Given the description of an element on the screen output the (x, y) to click on. 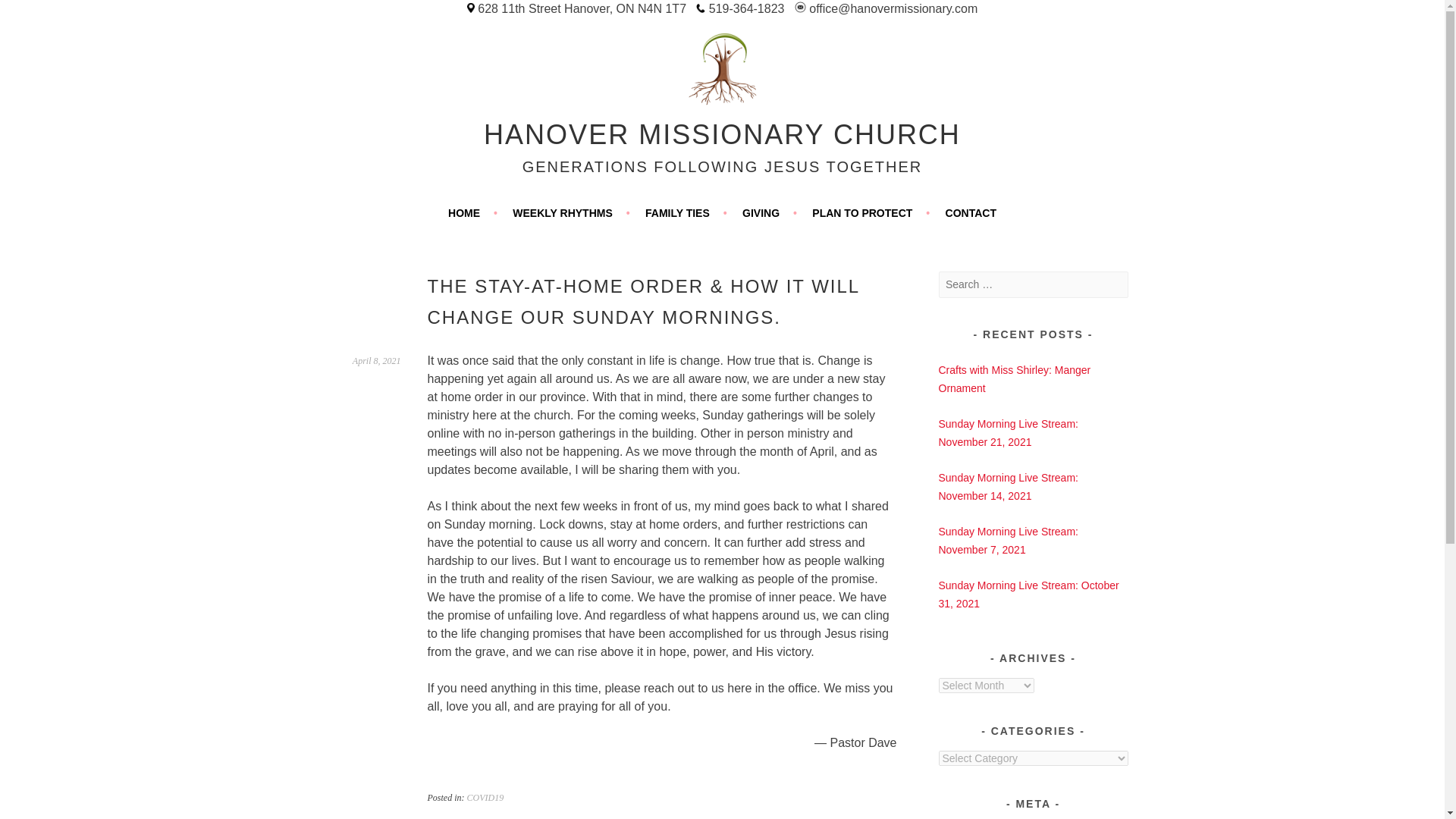
Sunday Morning Live Stream: November 21, 2021 (1008, 432)
HANOVER MISSIONARY CHURCH (721, 133)
WEEKLY RHYTHMS (570, 212)
April 8, 2021 (376, 360)
Search (30, 13)
Crafts with Miss Shirley: Manger Ornament (1014, 378)
CONTACT (969, 212)
Sunday Morning Live Stream: November 14, 2021 (1008, 486)
COVID19 (485, 797)
Sunday Morning Live Stream: October 31, 2021 (1029, 594)
Hanover Missionary Church (721, 133)
GIVING (769, 212)
HOME (472, 212)
